Given the description of an element on the screen output the (x, y) to click on. 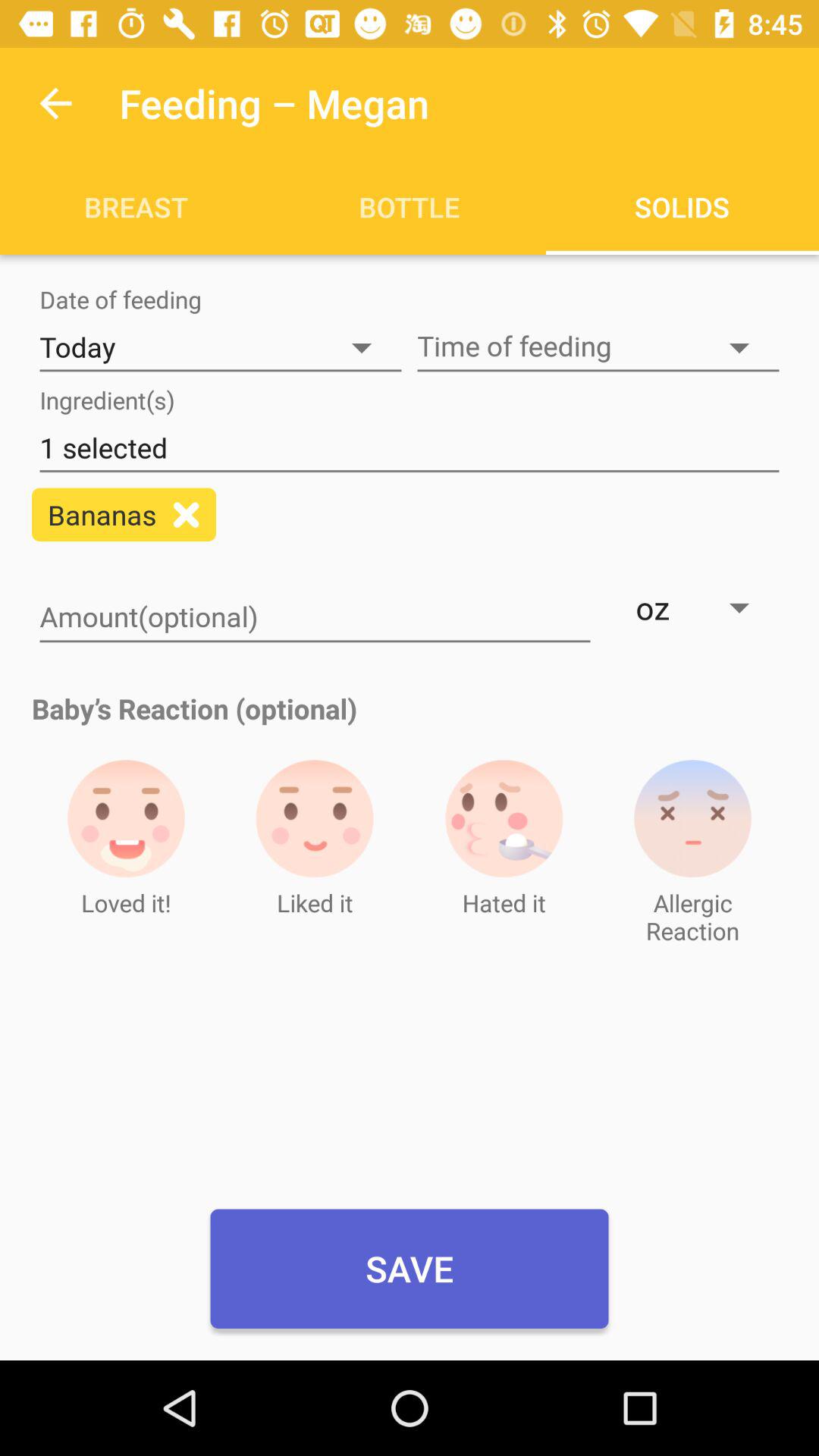
to set timing (598, 347)
